Given the description of an element on the screen output the (x, y) to click on. 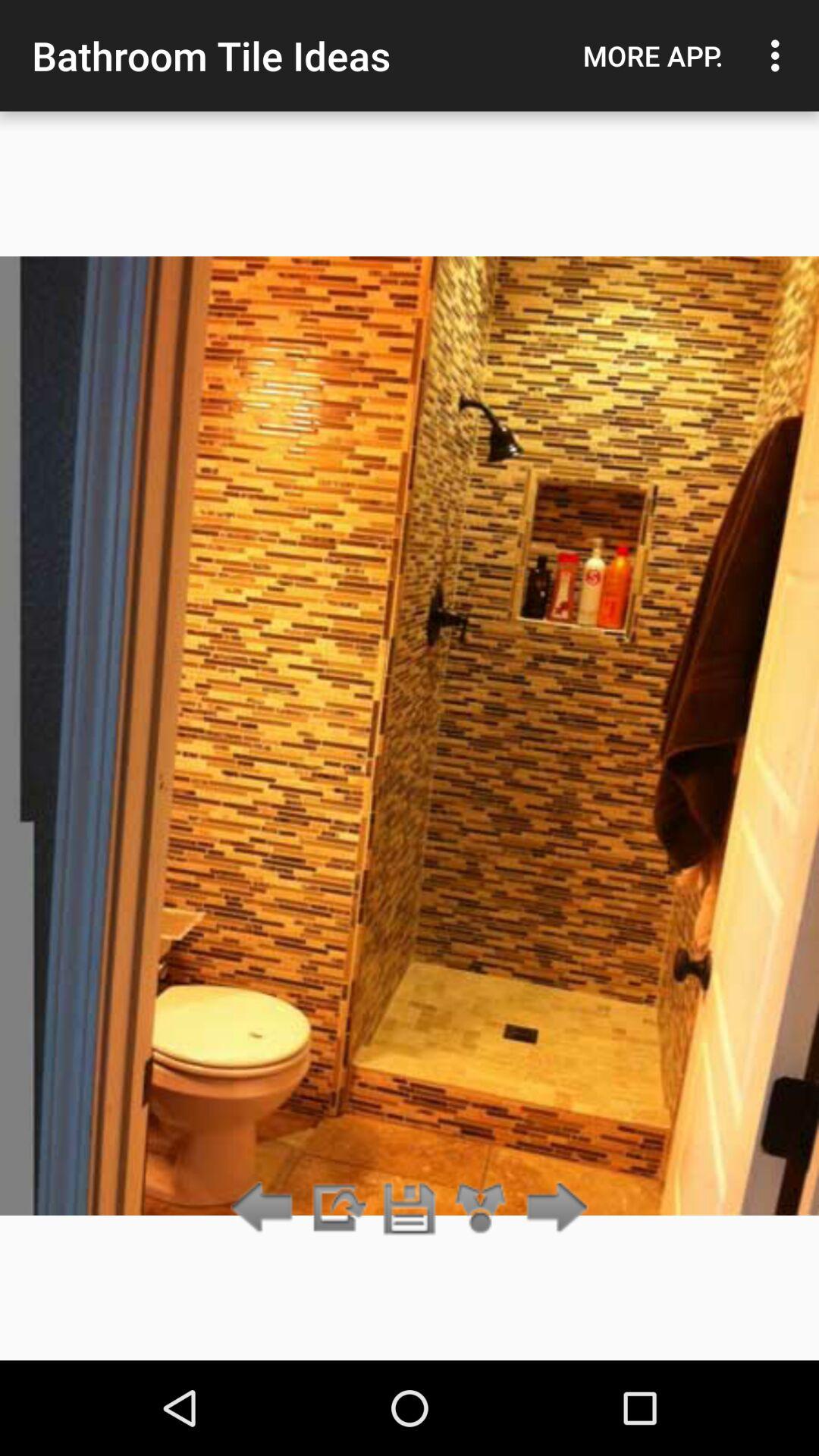
turn off the item next to the bathroom tile ideas (653, 55)
